Given the description of an element on the screen output the (x, y) to click on. 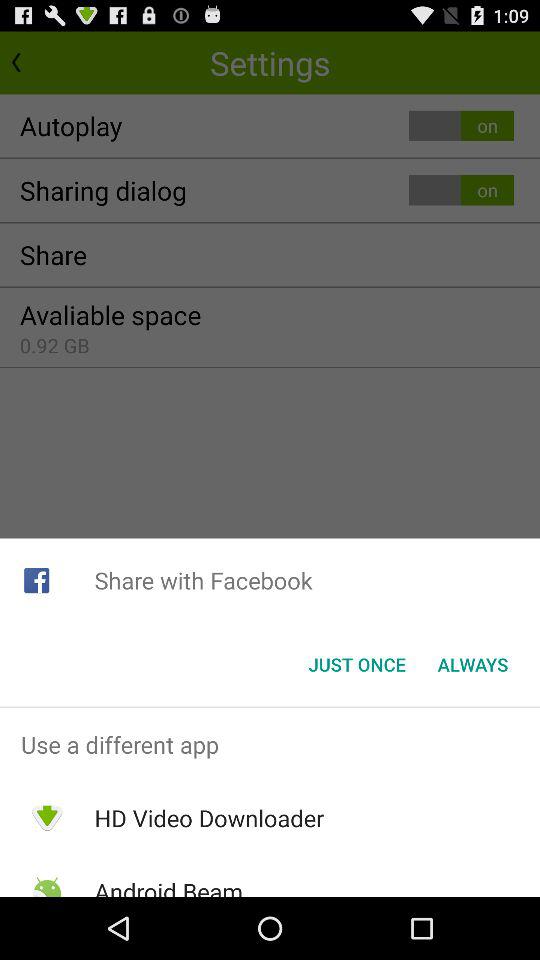
turn on the item below the share with facebook (356, 664)
